Given the description of an element on the screen output the (x, y) to click on. 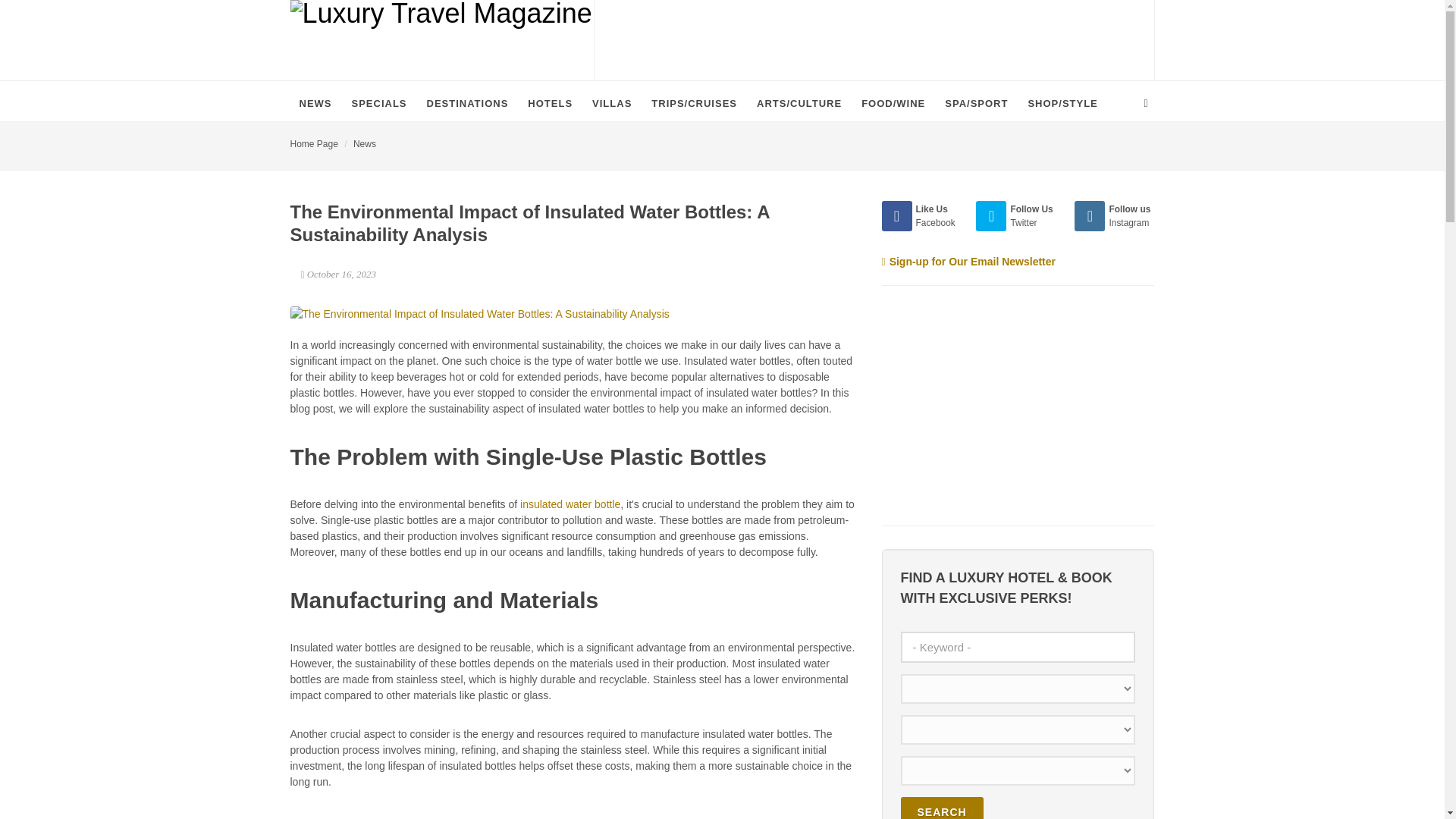
DESTINATIONS (467, 103)
HOTELS (549, 103)
NEWS (314, 103)
VILLAS (611, 103)
Search (942, 807)
SPECIALS (379, 103)
